Given the description of an element on the screen output the (x, y) to click on. 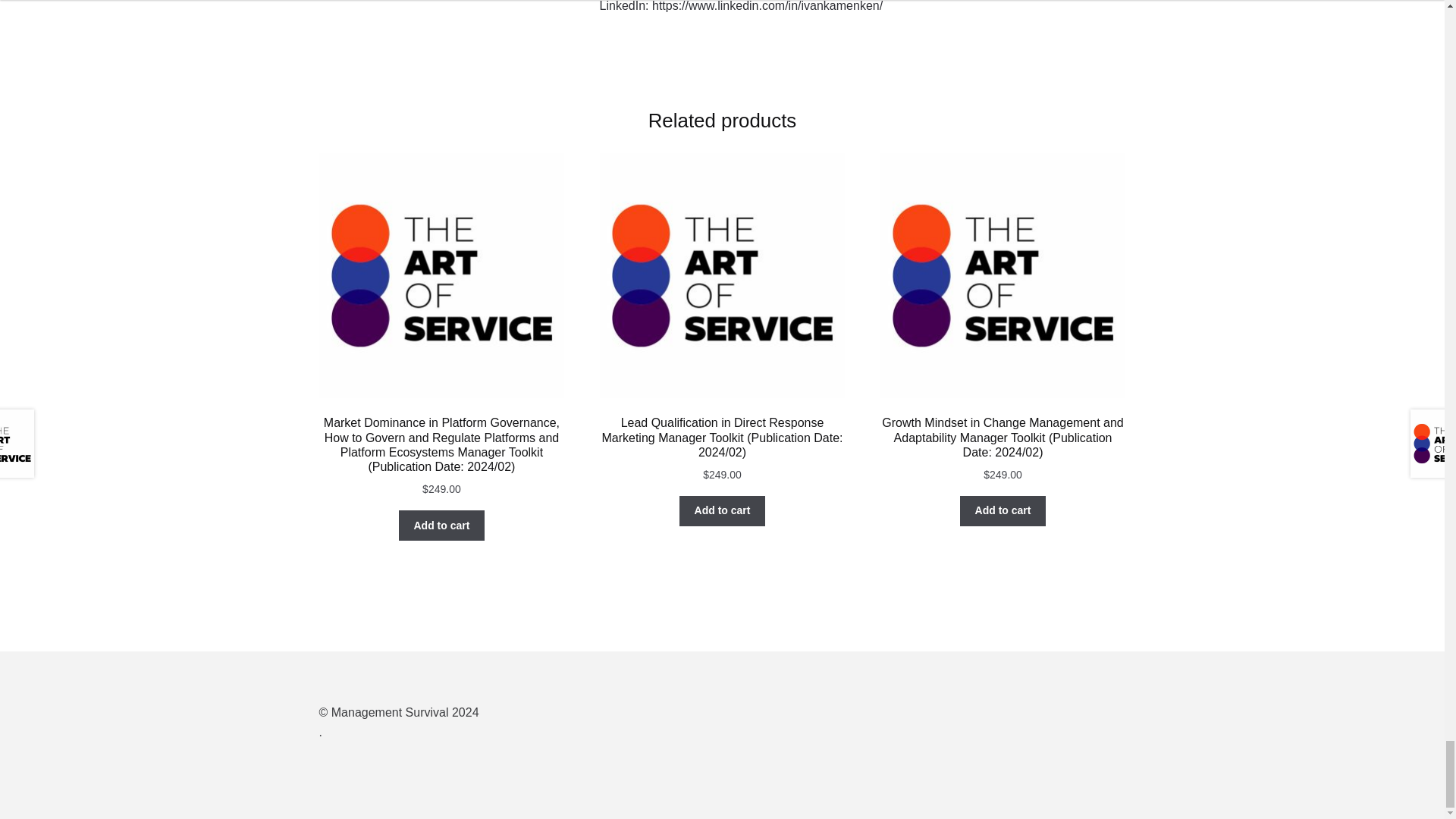
Add to cart (441, 525)
Add to cart (1002, 511)
Add to cart (722, 511)
